Given the description of an element on the screen output the (x, y) to click on. 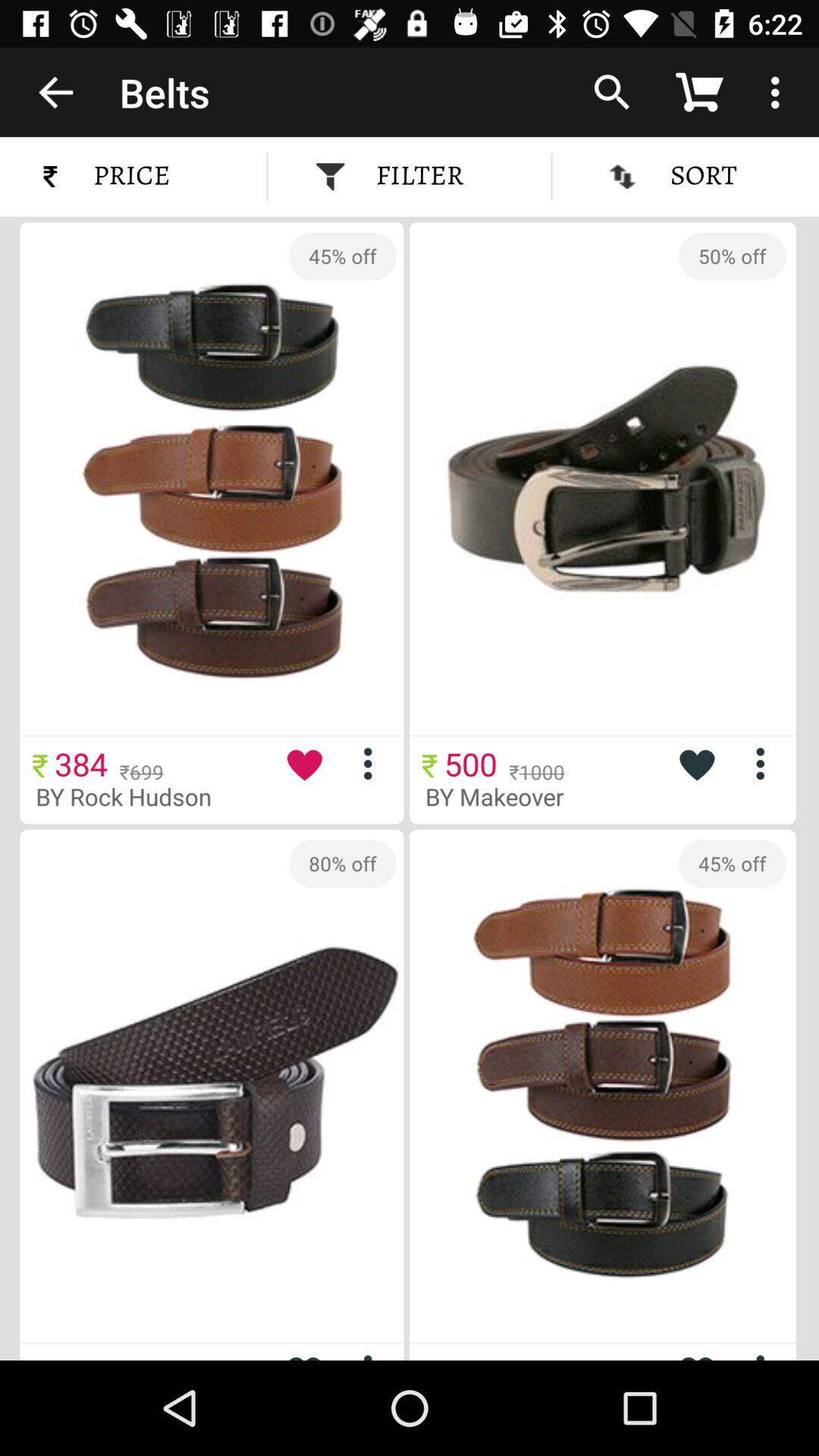
open item menu (373, 763)
